Given the description of an element on the screen output the (x, y) to click on. 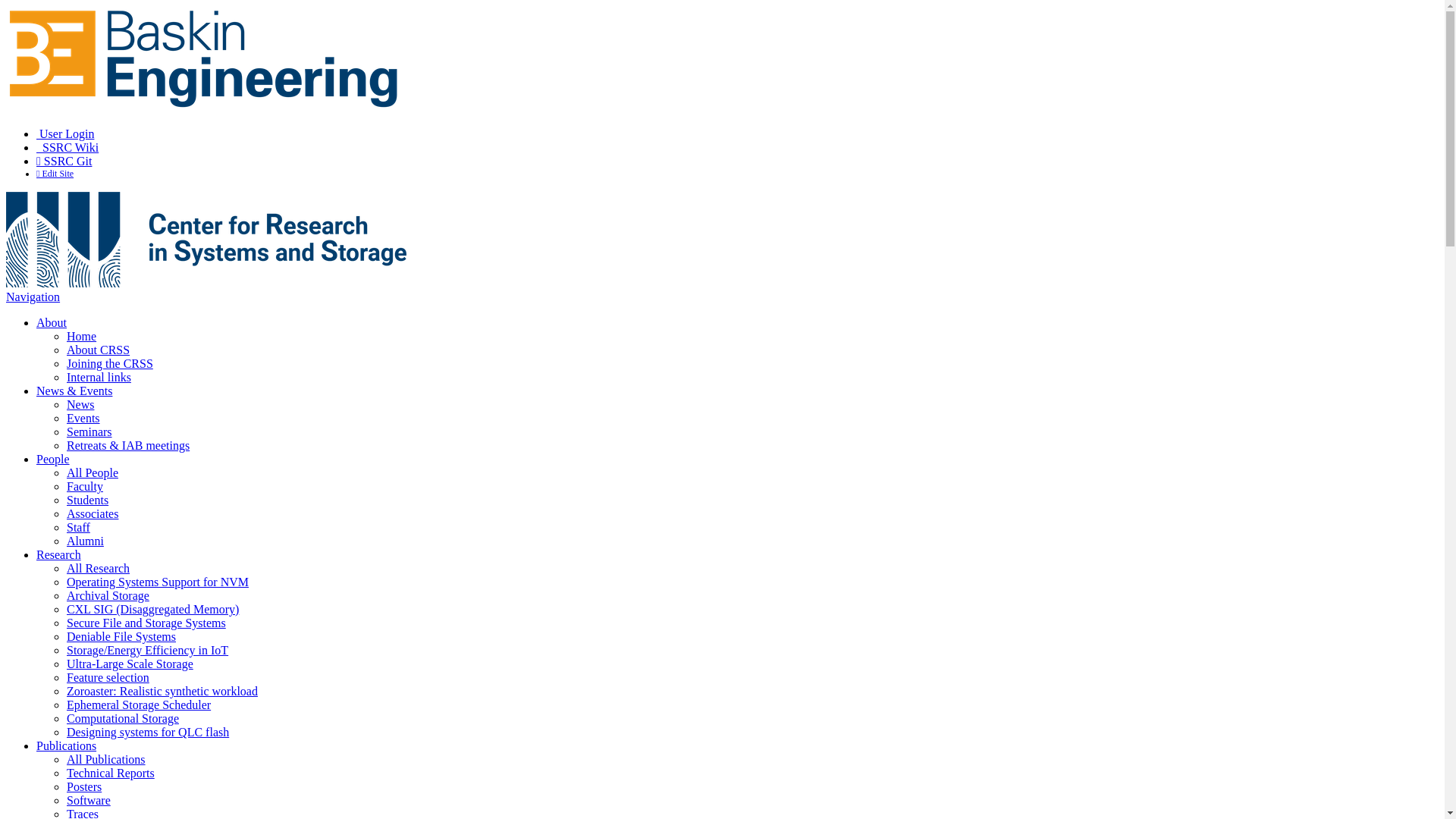
Posters Element type: text (83, 786)
Ephemeral Storage Scheduler Element type: text (138, 704)
Feature selection Element type: text (107, 677)
All Publications Element type: text (105, 759)
Alumni Element type: text (84, 540)
People Element type: text (52, 458)
Students Element type: text (87, 499)
Internal links Element type: text (98, 376)
Faculty Element type: text (84, 486)
About Element type: text (51, 322)
Publications Element type: text (66, 745)
All Research Element type: text (97, 567)
Zoroaster: Realistic synthetic workload Element type: text (161, 690)
Archival Storage Element type: text (107, 595)
Operating Systems Support for NVM Element type: text (157, 581)
All People Element type: text (92, 472)
Joining the CRSS Element type: text (109, 363)
Technical Reports Element type: text (110, 772)
About CRSS Element type: text (97, 349)
Software Element type: text (88, 799)
News Element type: text (80, 404)
Home Element type: text (81, 335)
Navigation Element type: text (32, 296)
Research Element type: text (58, 554)
 User Login Element type: text (65, 133)
Ultra-Large Scale Storage Element type: text (129, 663)
Staff Element type: text (78, 526)
Events Element type: text (83, 417)
Designing systems for QLC flash Element type: text (147, 731)
Computational Storage Element type: text (122, 718)
Deniable File Systems Element type: text (120, 636)
Retreats & IAB meetings Element type: text (127, 445)
CXL SIG (Disaggregated Memory) Element type: text (152, 608)
  SSRC Wiki Element type: text (67, 147)
Associates Element type: text (92, 513)
Seminars Element type: text (89, 431)
Secure File and Storage Systems Element type: text (145, 622)
Storage/Energy Efficiency in IoT Element type: text (147, 649)
News & Events Element type: text (74, 390)
